Given the description of an element on the screen output the (x, y) to click on. 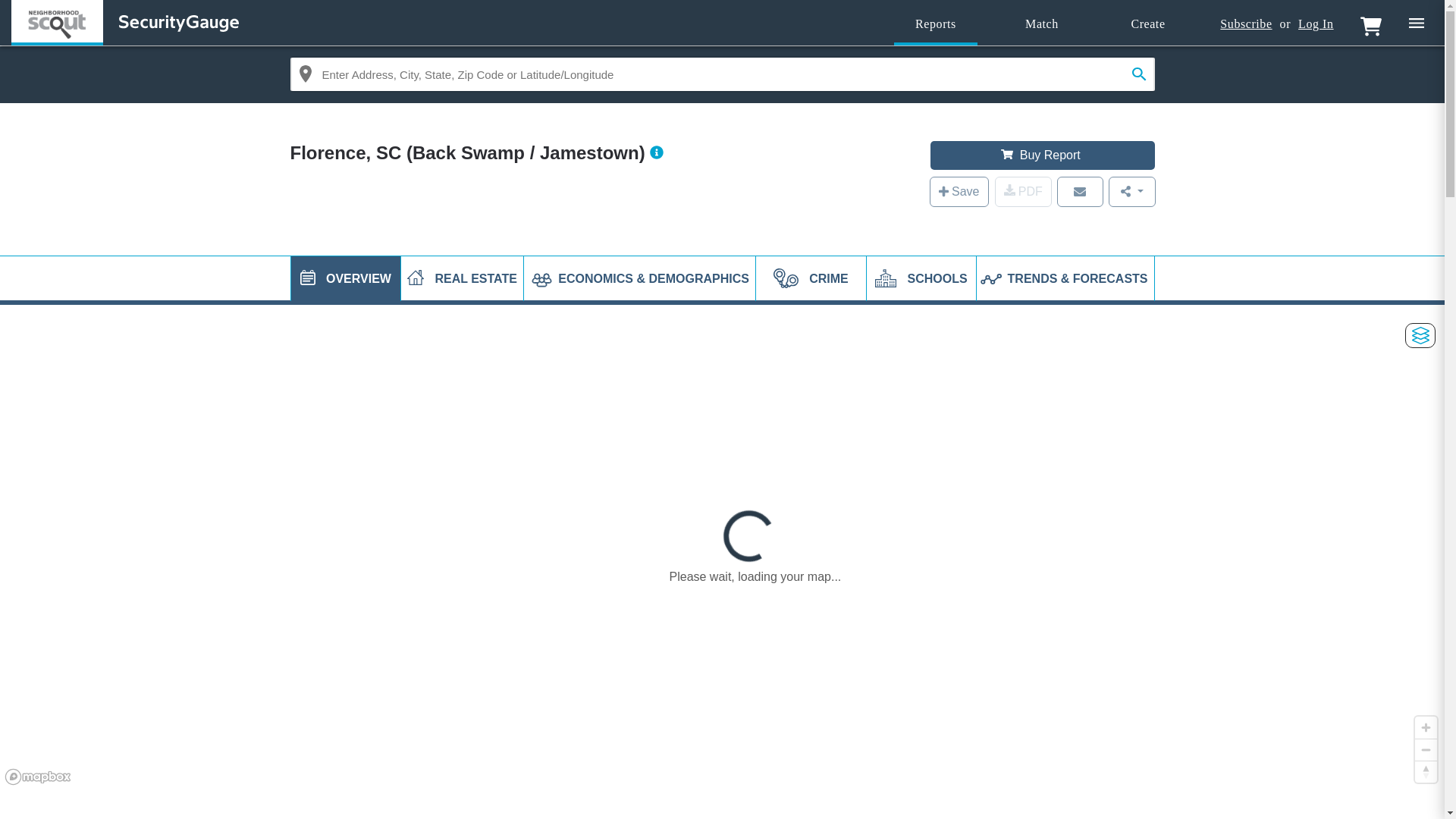
Reports (934, 24)
j (307, 277)
Log In (1315, 24)
Match (1041, 24)
Subscribe (1245, 24)
Create (1147, 24)
